Given the description of an element on the screen output the (x, y) to click on. 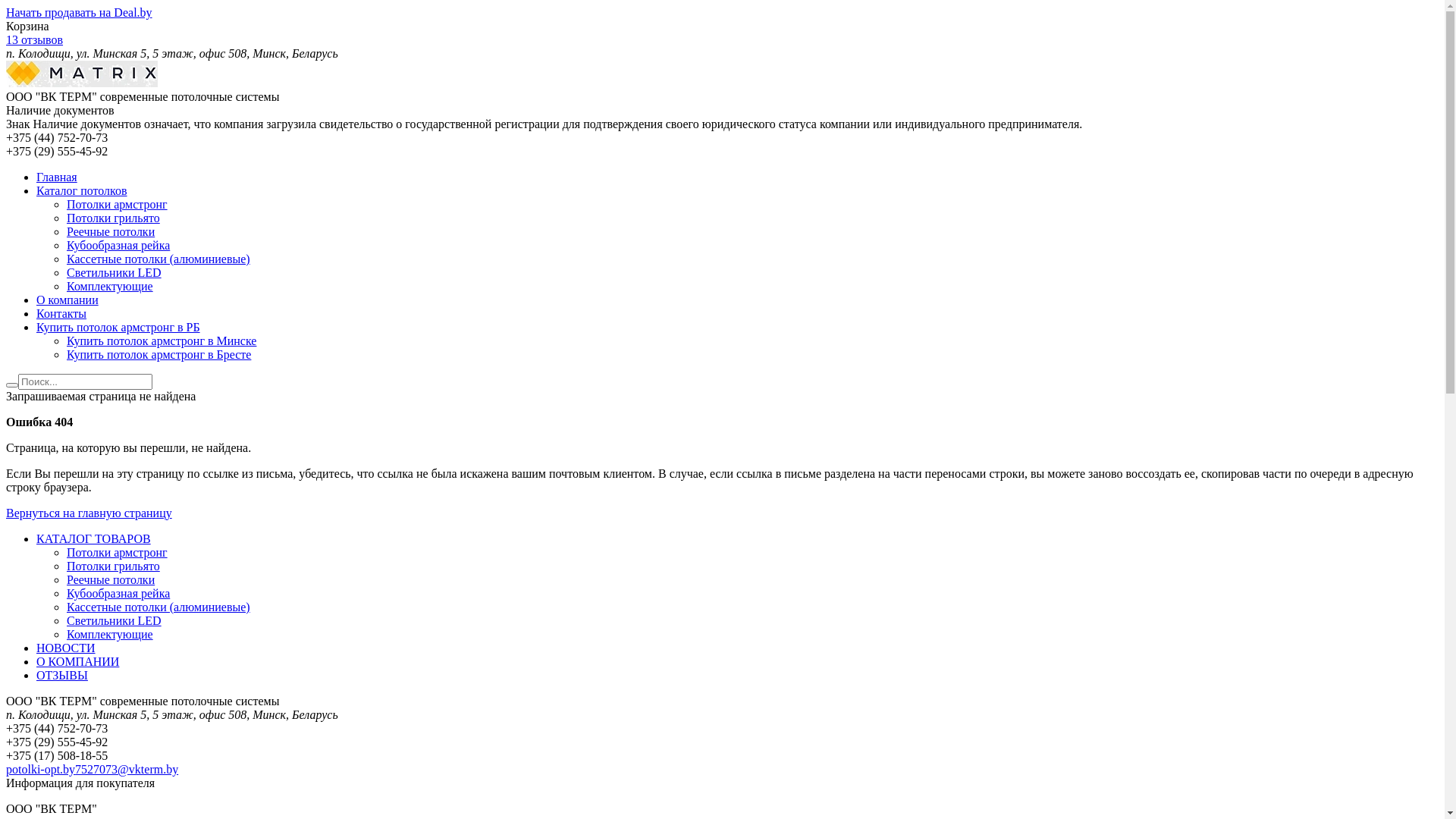
7527073@vkterm.by Element type: text (126, 768)
potolki-opt.by Element type: text (40, 768)
